Given the description of an element on the screen output the (x, y) to click on. 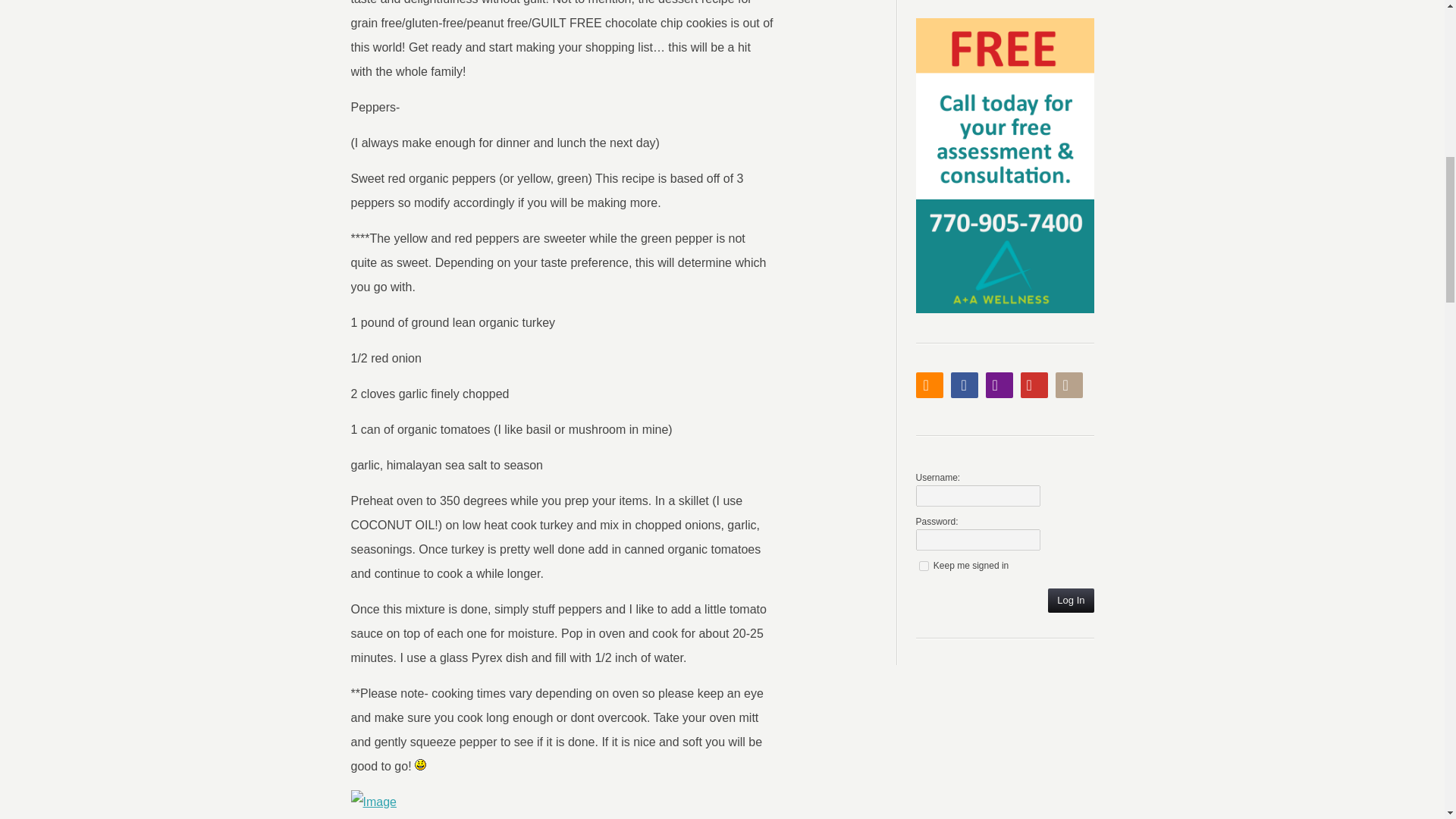
RSS Feed (929, 385)
forever (923, 565)
Facebook (964, 385)
YouTube (1034, 385)
Email (999, 385)
Instagram (1069, 385)
